Given the description of an element on the screen output the (x, y) to click on. 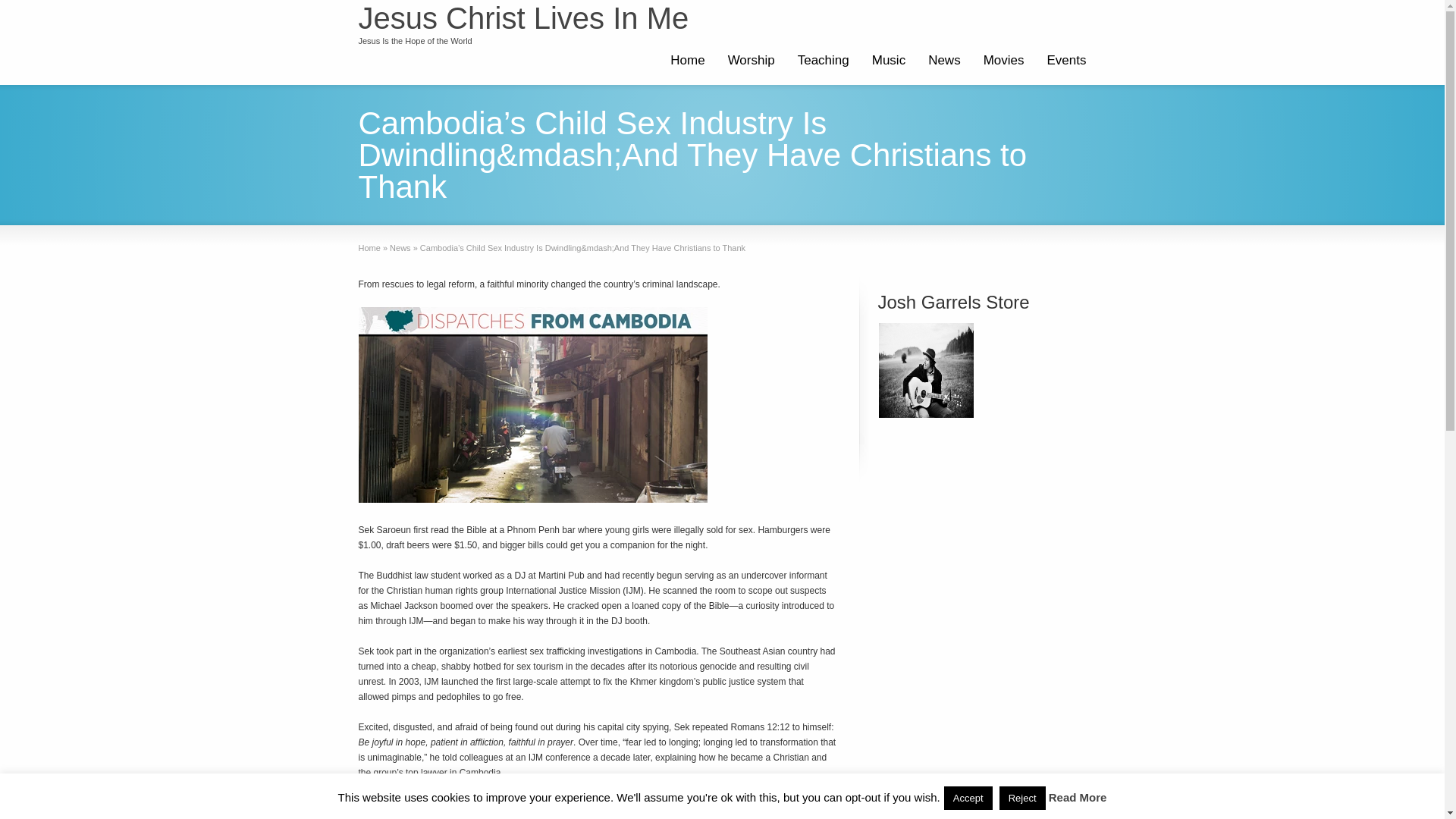
Home (369, 247)
News (400, 247)
Worship (751, 62)
Home (687, 62)
Events (1066, 62)
Movies (1003, 62)
Music (888, 62)
News (400, 247)
Jesus Christ Lives In Me (523, 18)
Teaching (823, 62)
